Given the description of an element on the screen output the (x, y) to click on. 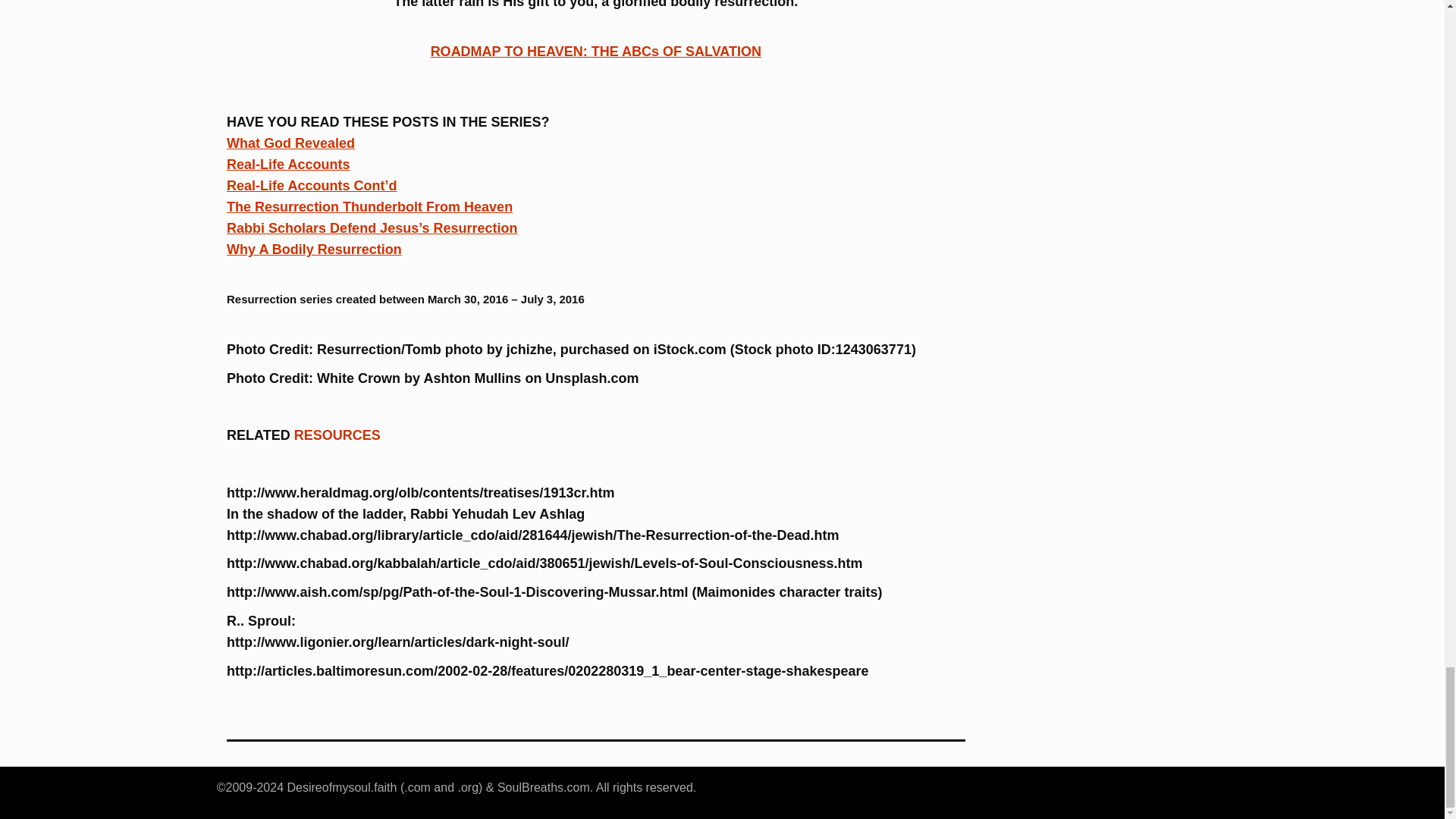
Real-Life Accounts (288, 164)
Why A Bodily Resurrection (314, 249)
ROADMAP TO HEAVEN: THE ABCs OF SALVATION (595, 51)
What God Revealed (291, 142)
The Resurrection Thunderbolt From Heaven (369, 206)
